Given the description of an element on the screen output the (x, y) to click on. 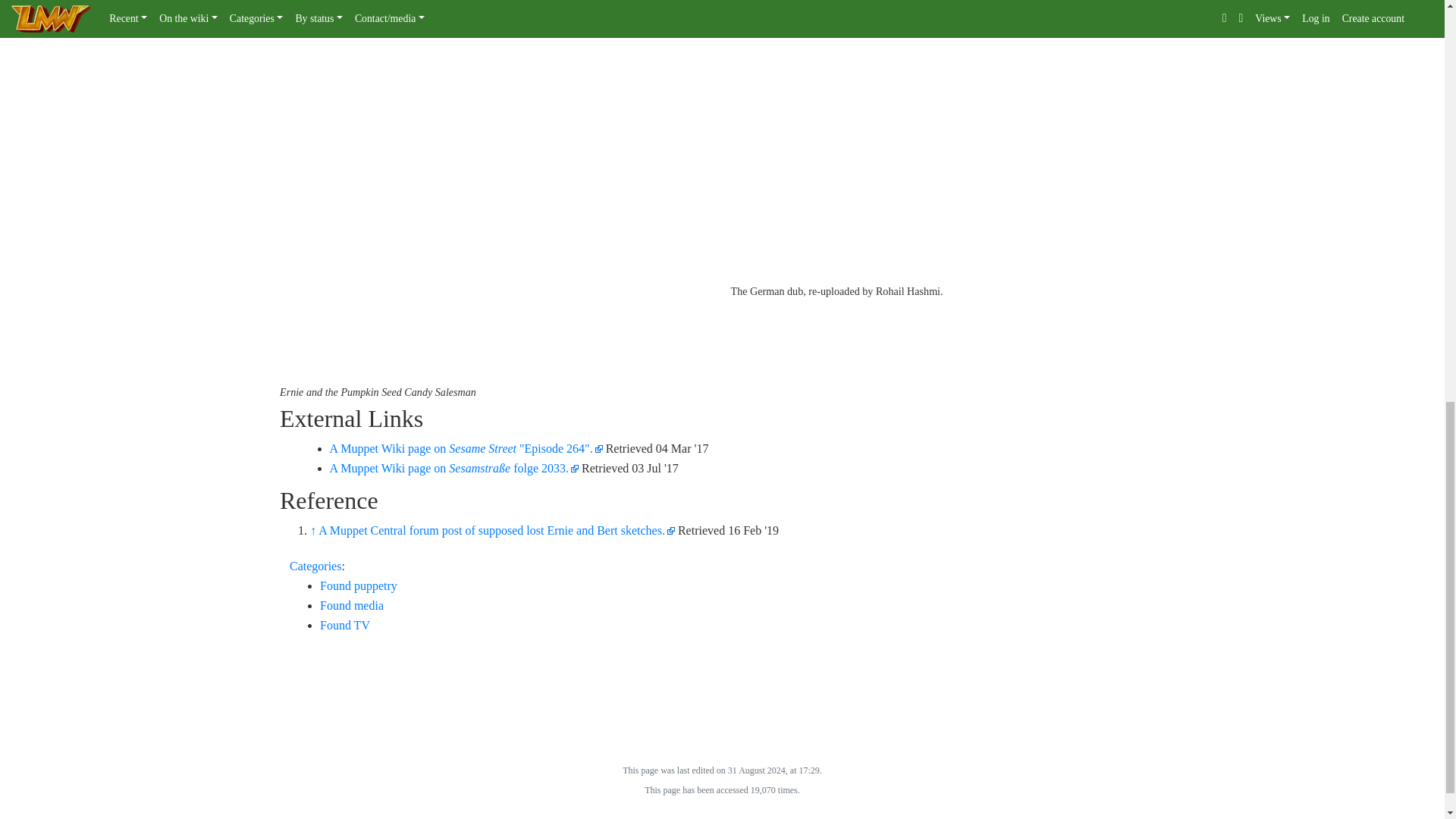
Category:Found puppetry (358, 585)
Special:Categories (314, 565)
Category:Found media (352, 604)
